Given the description of an element on the screen output the (x, y) to click on. 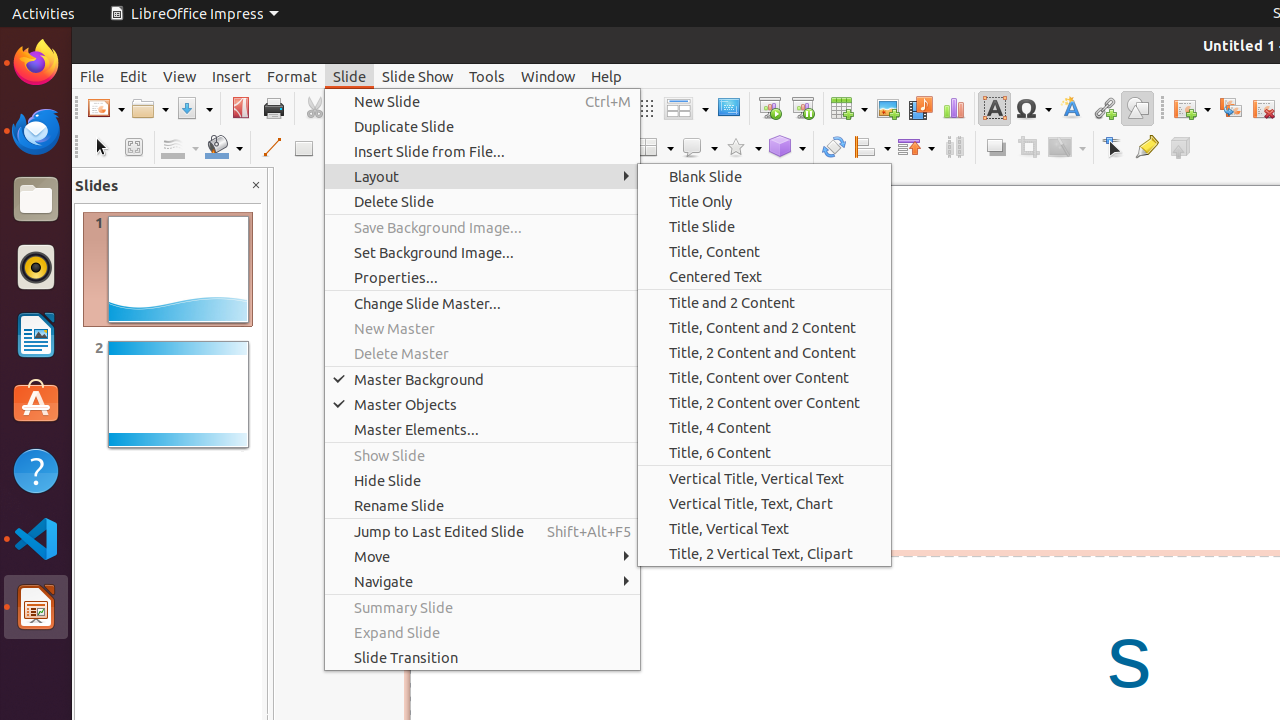
Master Elements... Element type: menu-item (482, 429)
Delete Slide Element type: menu-item (482, 201)
Edit Element type: menu (133, 76)
Show Slide Element type: menu-item (482, 455)
View Element type: menu (179, 76)
